Given the description of an element on the screen output the (x, y) to click on. 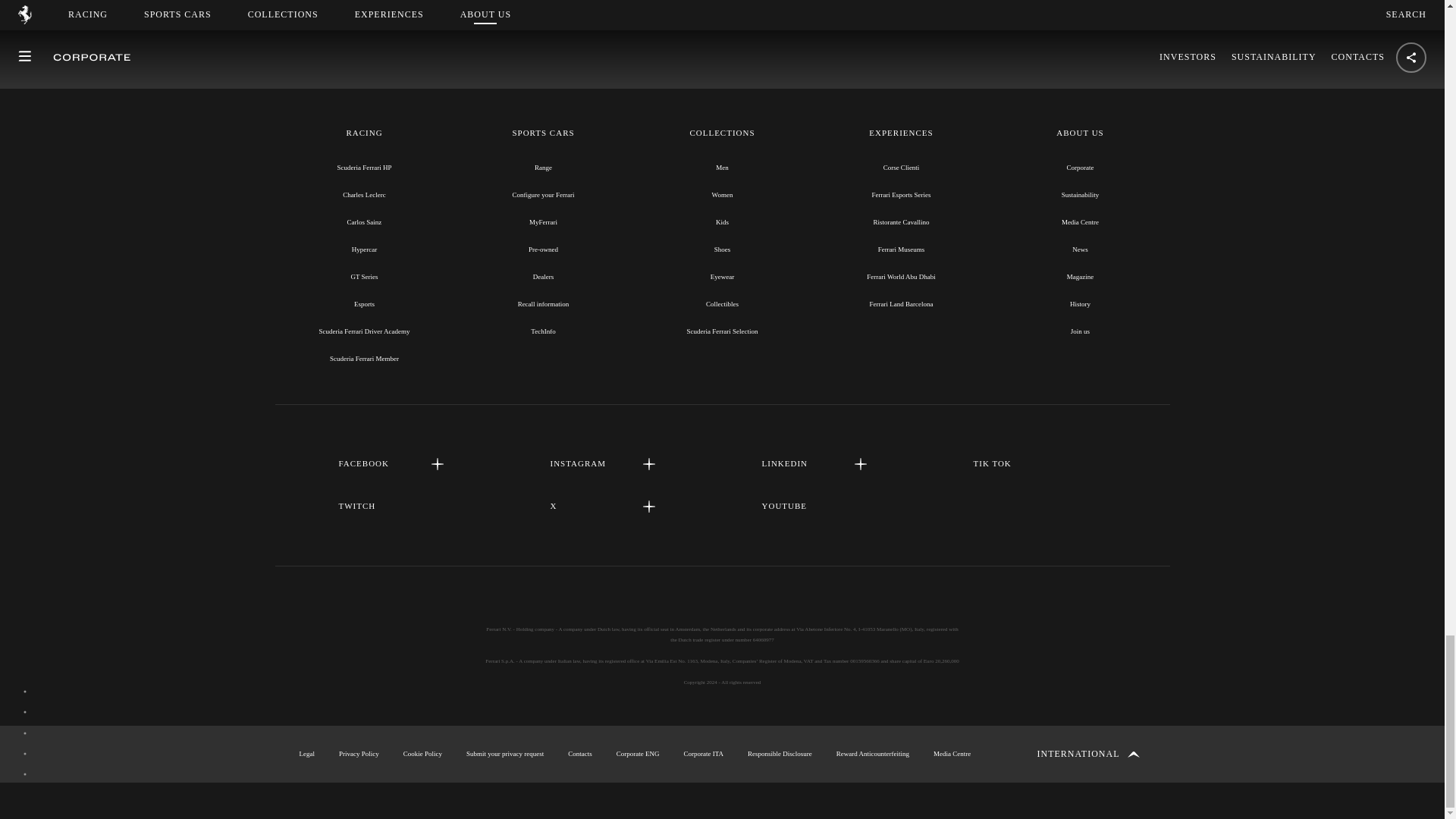
Configure your Ferrari (543, 194)
Dealers (542, 276)
Men (722, 167)
Scuderia Ferrari Member (364, 358)
Esports (363, 303)
Change country (1088, 753)
TechInfo (542, 330)
Shoes (722, 249)
Kids (722, 222)
Scuderia Ferrari Driver Academy (363, 330)
Women (722, 194)
COLLECTIONS (721, 133)
Range (542, 167)
MANAGE (828, 7)
Carlos Sainz (364, 222)
